Given the description of an element on the screen output the (x, y) to click on. 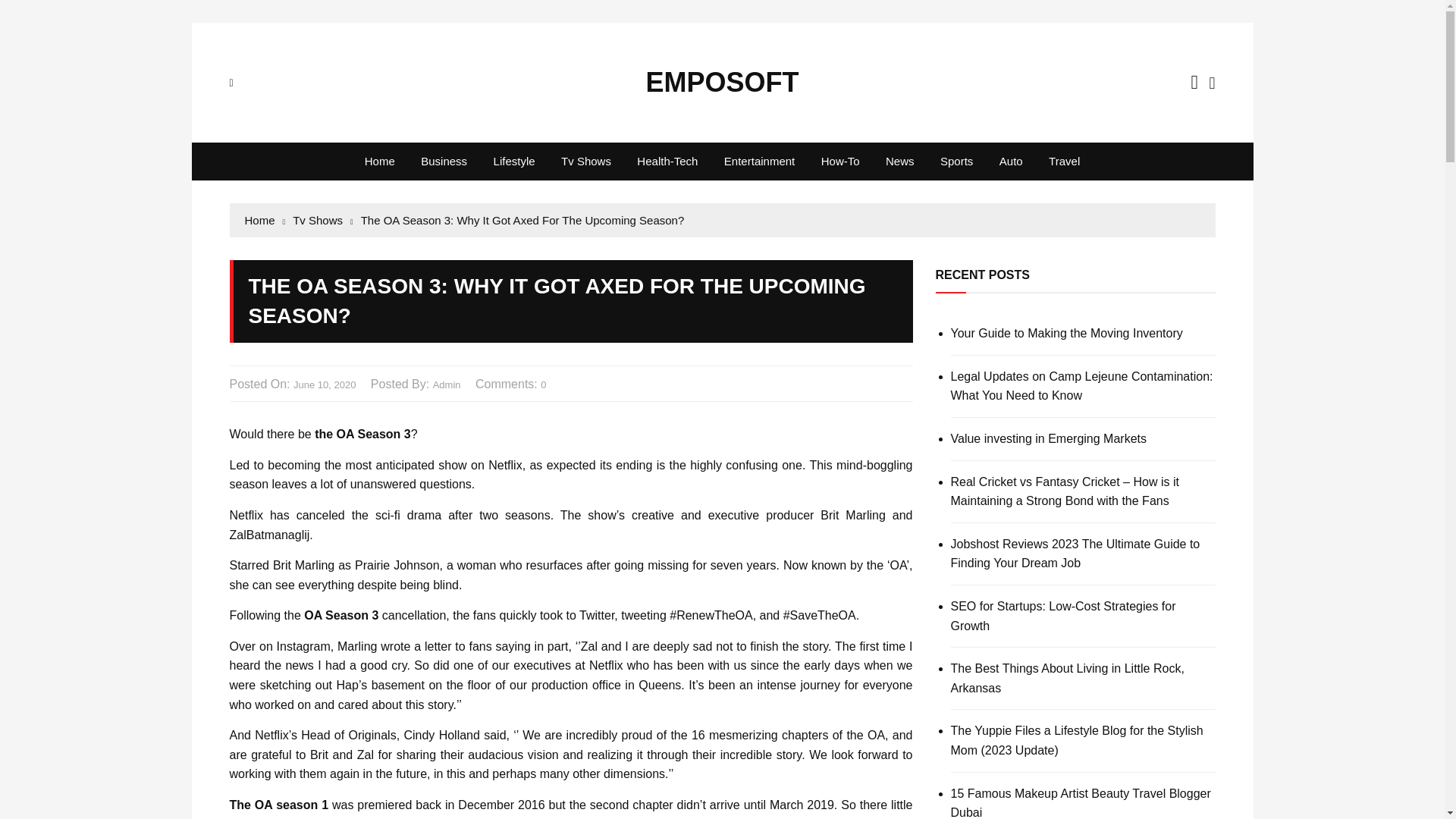
Business (444, 161)
Entertainment (759, 161)
EMPOSOFT (721, 81)
Home (264, 220)
Sports (956, 161)
Auto (1010, 161)
How-To (839, 161)
Health-Tech (667, 161)
The OA Season 3: Why It Got Axed For The Upcoming Season? (522, 220)
June 10, 2020 (324, 385)
